Given the description of an element on the screen output the (x, y) to click on. 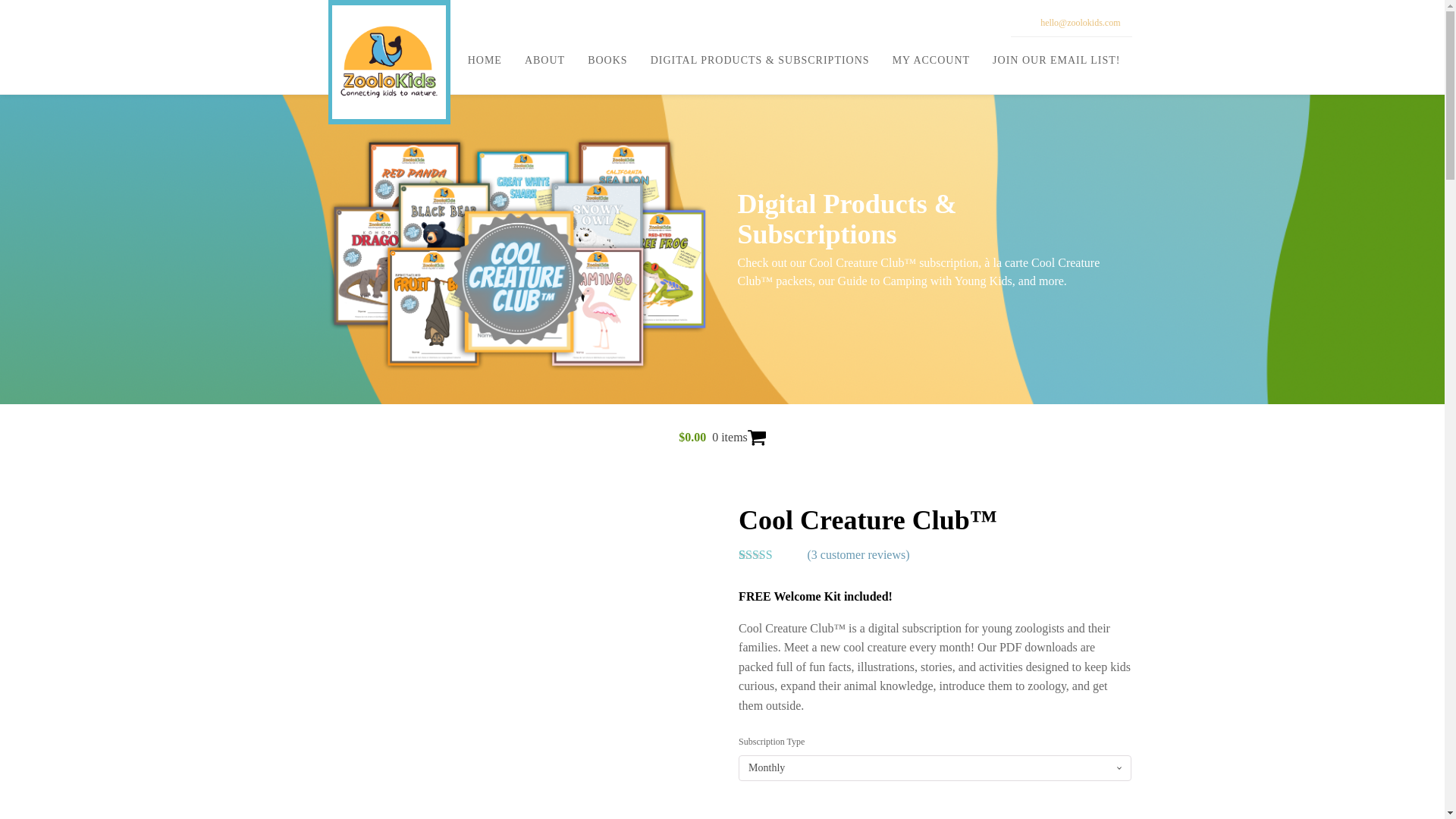
BOOKS (607, 60)
JOIN OUR EMAIL LIST! (1056, 60)
ABOUT (544, 60)
Get access to freebies and sales! (1056, 60)
MY ACCOUNT (930, 60)
HOME (485, 60)
